Given the description of an element on the screen output the (x, y) to click on. 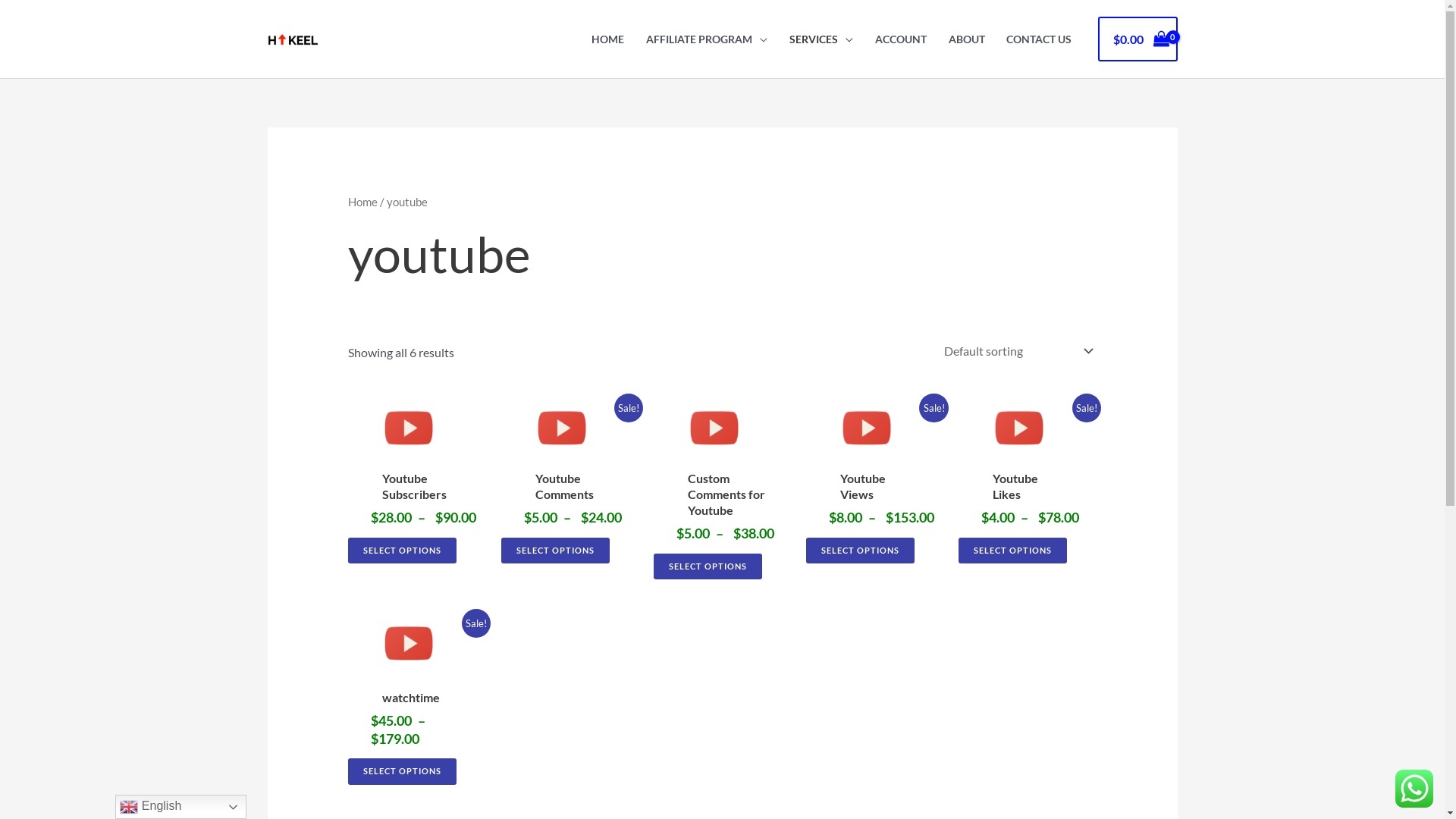
HOME Element type: text (607, 38)
Custom Comments for Youtube Element type: text (721, 497)
Home Element type: text (362, 201)
SELECT OPTIONS Element type: text (707, 566)
SELECT OPTIONS Element type: text (555, 550)
Youtube Likes Element type: text (1013, 489)
Youtube Views Element type: text (863, 489)
SELECT OPTIONS Element type: text (860, 550)
watchtime Element type: text (393, 701)
AFFILIATE PROGRAM Element type: text (706, 38)
SELECT OPTIONS Element type: text (1012, 550)
ABOUT Element type: text (966, 38)
SELECT OPTIONS Element type: text (402, 550)
Youtube Comments Element type: text (569, 489)
CONTACT US Element type: text (1038, 38)
SERVICES Element type: text (821, 38)
Youtube Subscribers Element type: text (416, 489)
ACCOUNT Element type: text (900, 38)
SELECT OPTIONS Element type: text (402, 771)
$0.00 Element type: text (1137, 39)
